Given the description of an element on the screen output the (x, y) to click on. 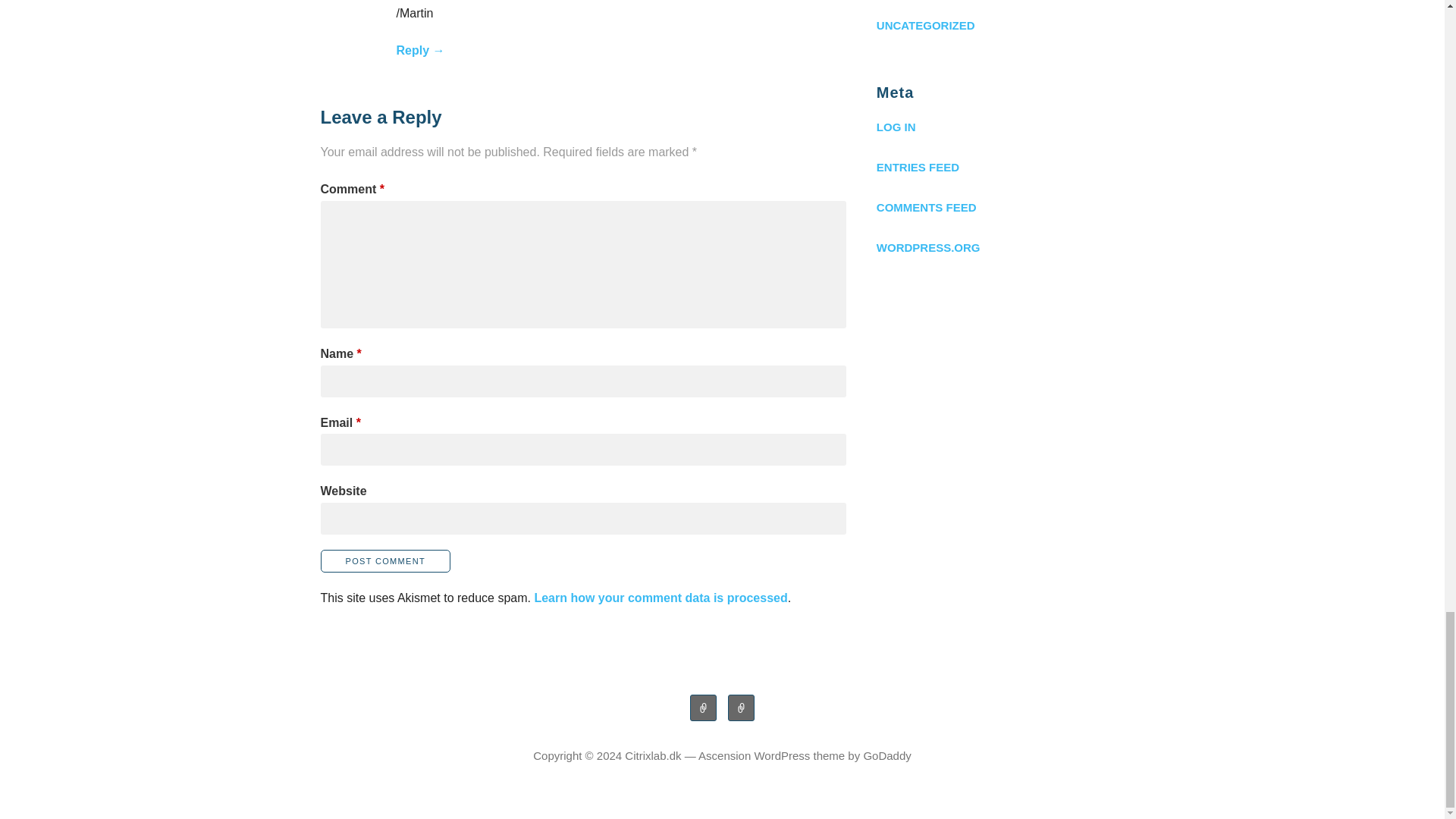
Post Comment (384, 560)
Reply (420, 50)
Post Comment (384, 560)
Learn how your comment data is processed (660, 597)
